Given the description of an element on the screen output the (x, y) to click on. 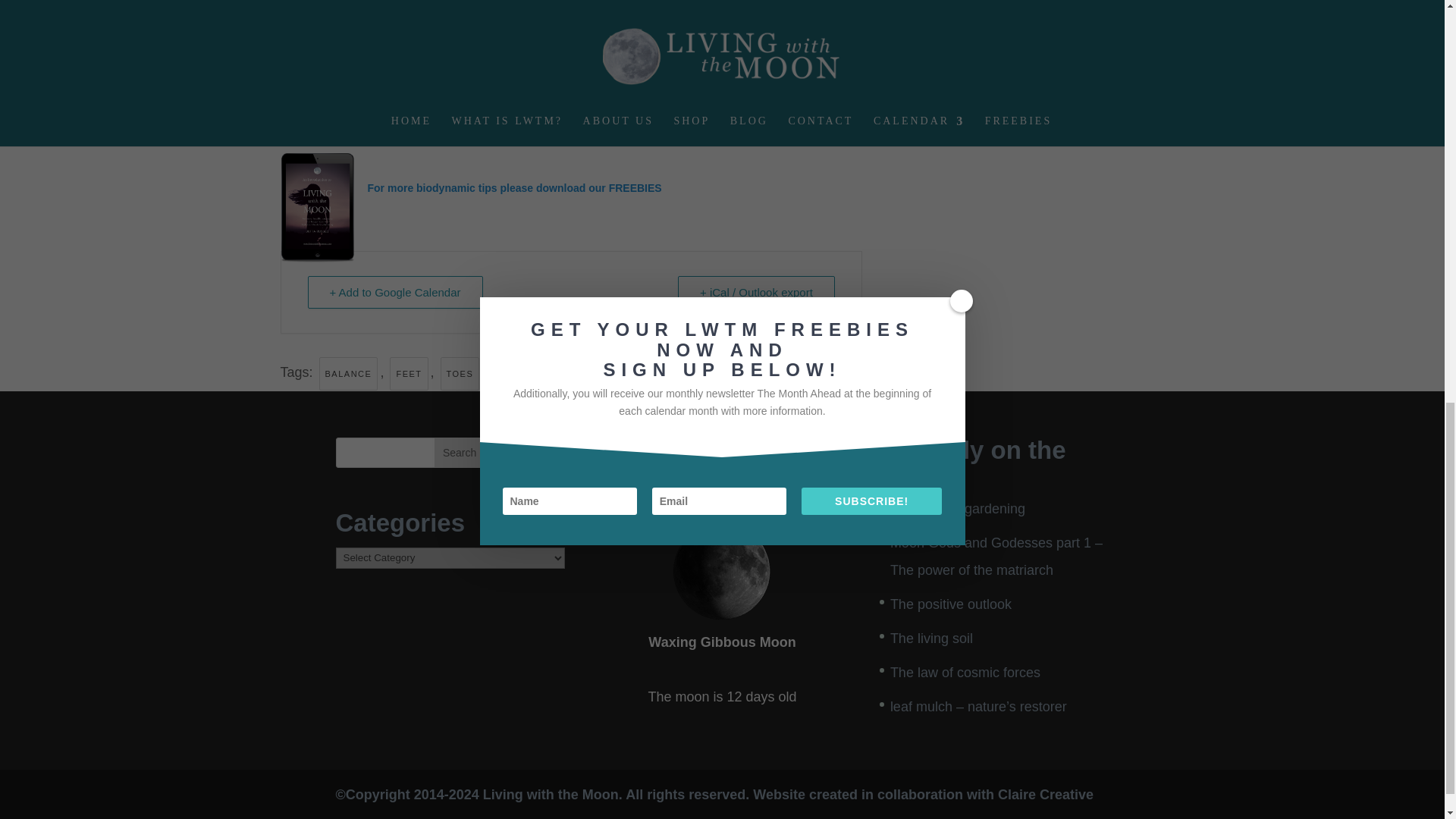
TOES (460, 373)
today we look after them.  (405, 117)
The living soil (930, 638)
Search (458, 452)
The positive outlook (950, 604)
Biodynamic gardening (957, 508)
The law of cosmic forces (965, 672)
Waxing Gibbous Moon (721, 570)
BALANCE (348, 373)
Search (458, 452)
Website created in collaboration with Claire Creative (922, 794)
For more biodynamic tips please download our FREEBIES (513, 187)
FEET (409, 373)
